Given the description of an element on the screen output the (x, y) to click on. 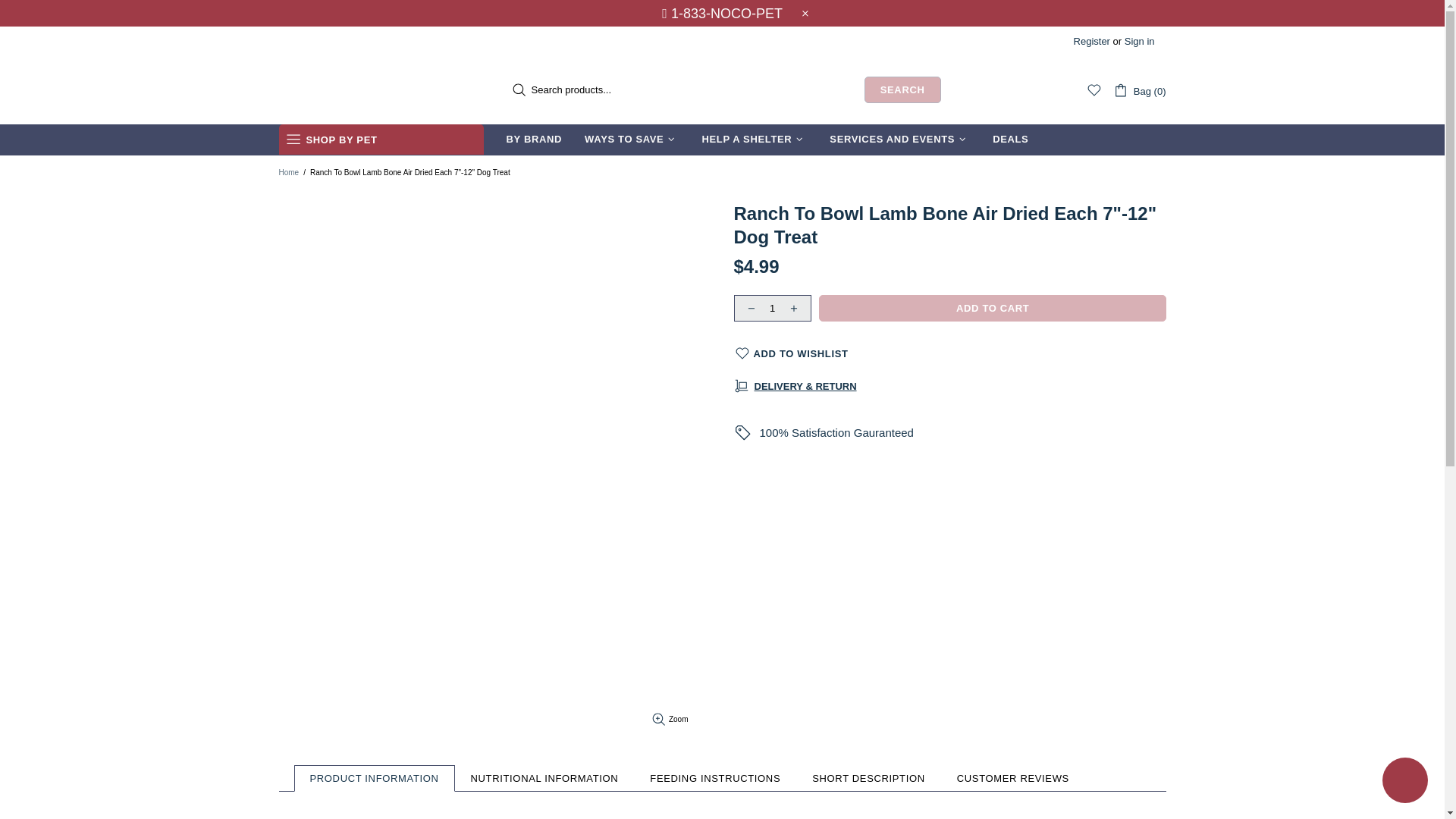
Poudre Pet and Feed Supply (354, 89)
Sign in (1139, 41)
SEARCH (902, 89)
1 (771, 307)
Shopify online store chat (1404, 781)
Register (1091, 41)
